Given the description of an element on the screen output the (x, y) to click on. 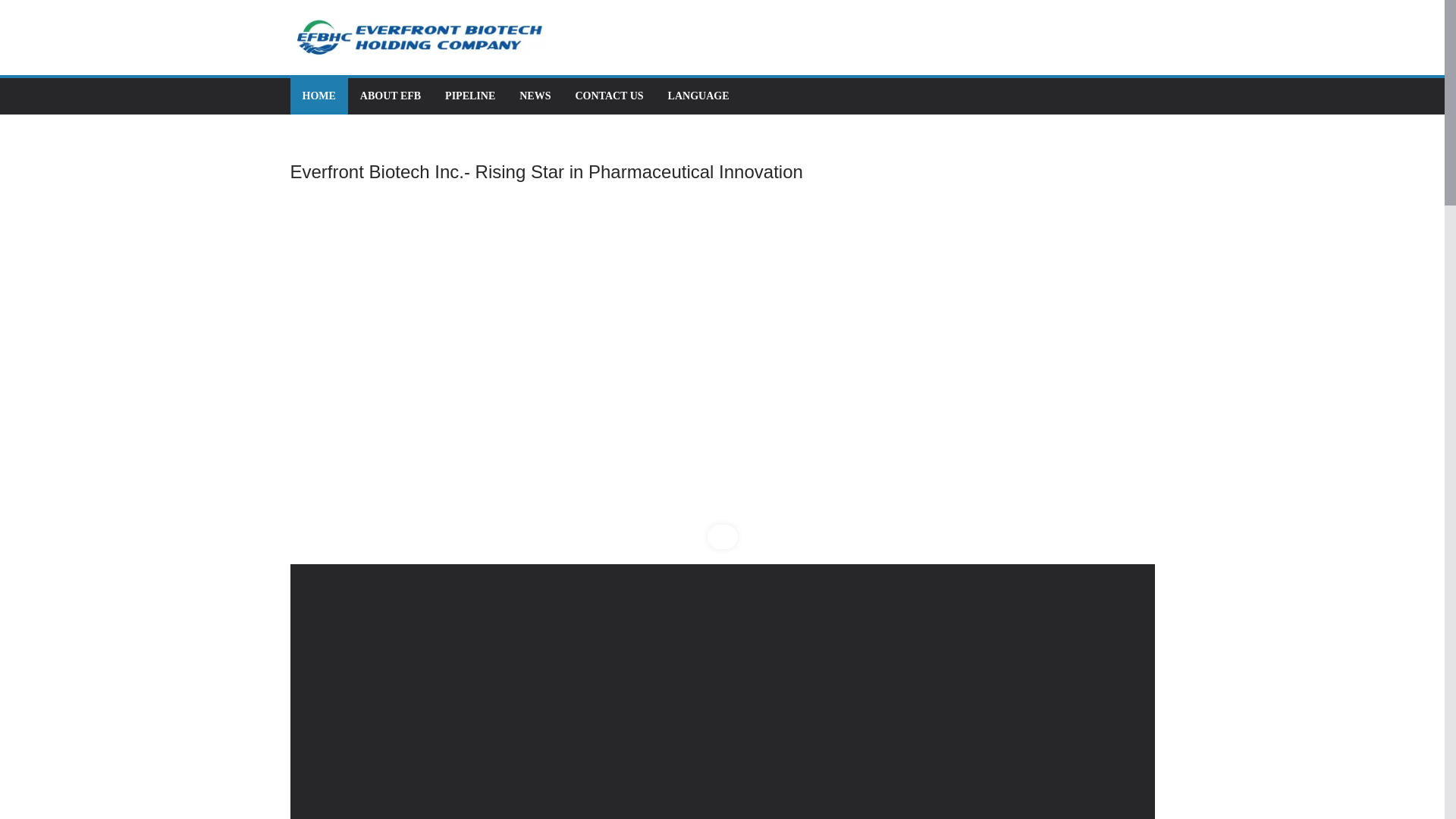
CONTACT US (609, 96)
ABOUT EFB (389, 96)
HOME (317, 96)
PIPELINE (470, 96)
NEWS (534, 96)
LANGUAGE (698, 96)
